Given the description of an element on the screen output the (x, y) to click on. 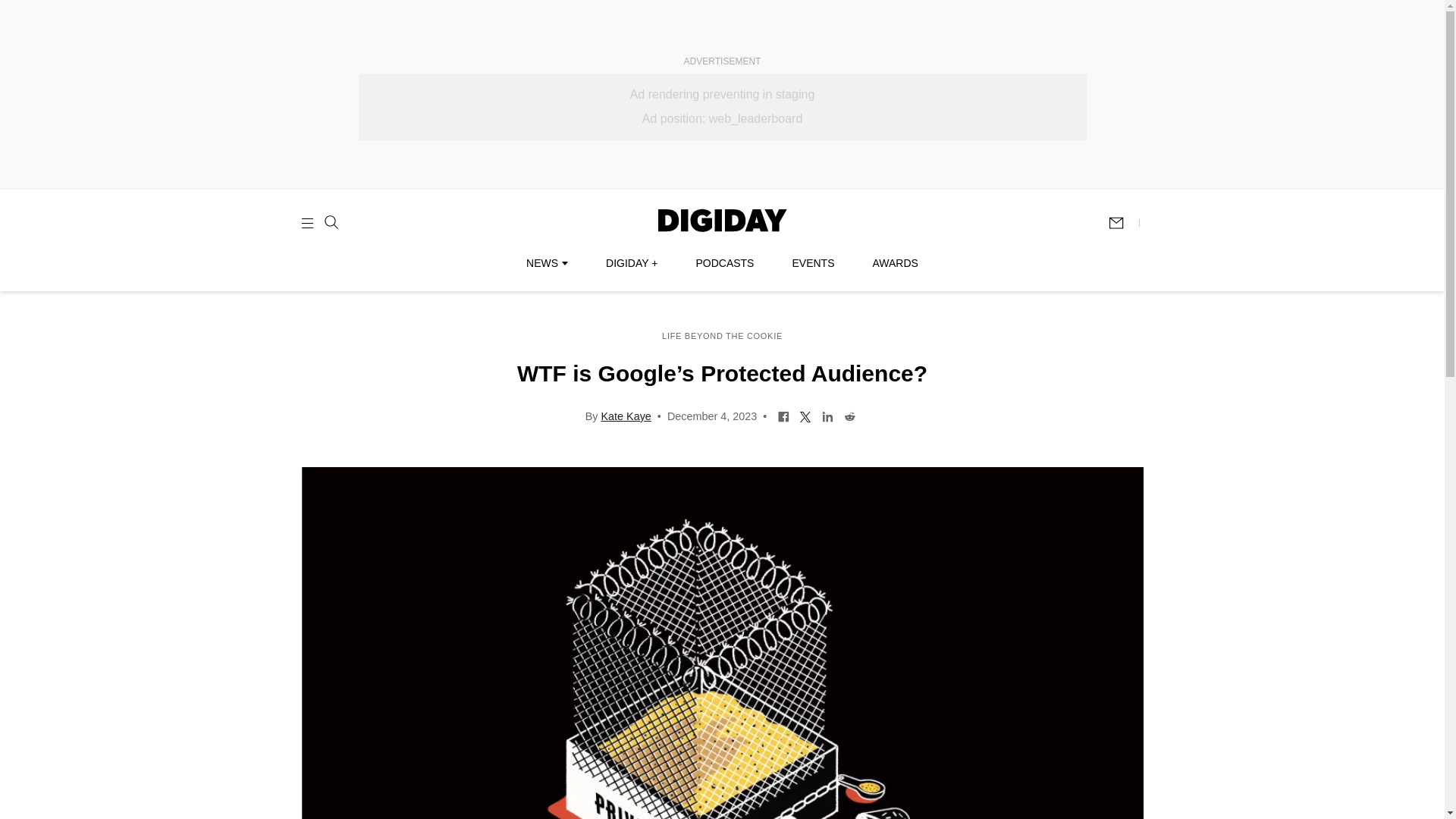
EVENTS (813, 262)
AWARDS (894, 262)
Share on LinkedIn (827, 415)
NEWS (546, 262)
Subscribe (1123, 223)
Share on Reddit (849, 415)
Share on Facebook (783, 415)
Share on Twitter (805, 415)
PODCASTS (725, 262)
